Given the description of an element on the screen output the (x, y) to click on. 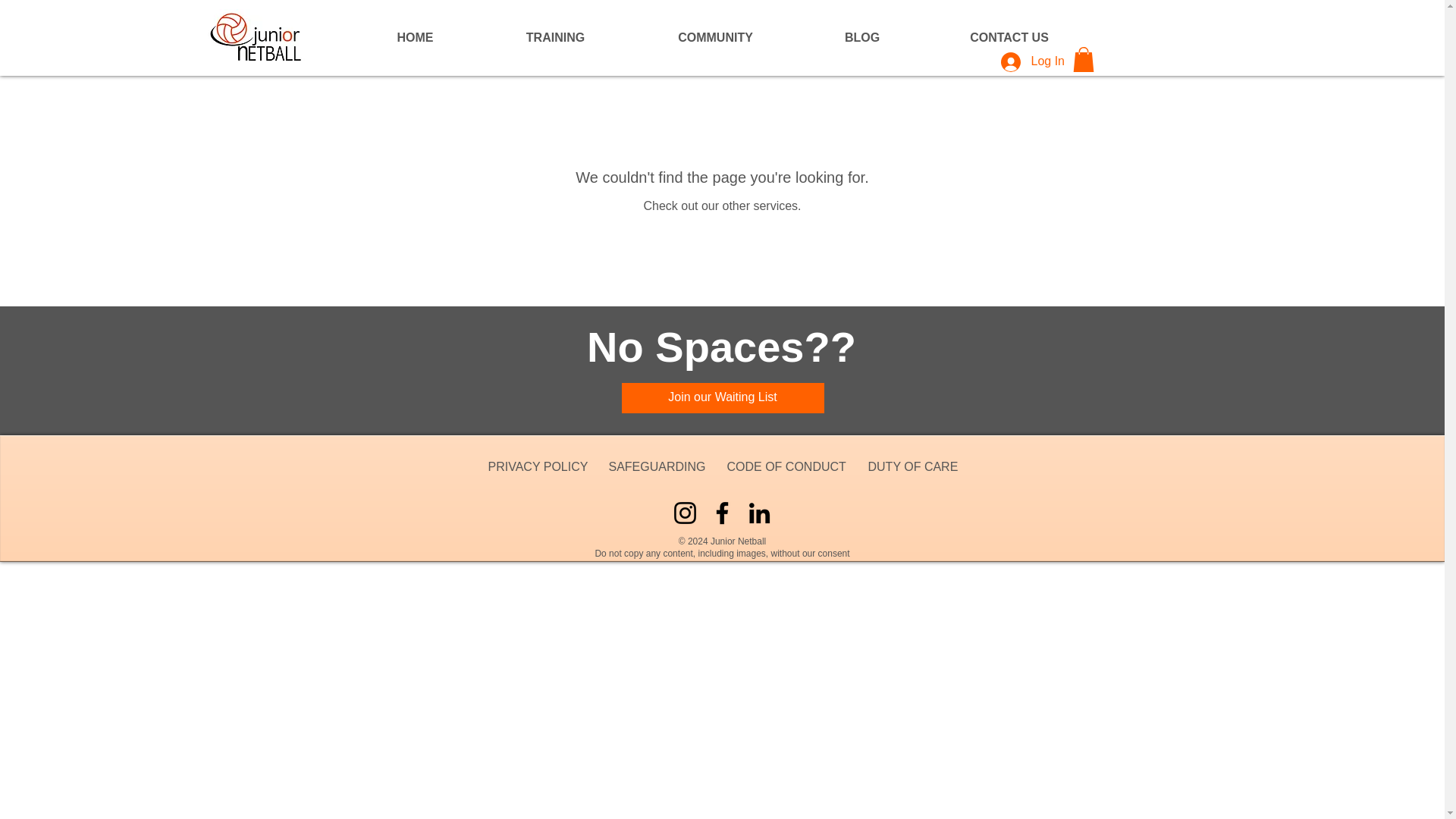
CONTACT US (1009, 37)
CODE OF CONDUCT (786, 466)
COMMUNITY (714, 37)
PRIVACY POLICY (536, 466)
DUTY OF CARE (912, 466)
SAFEGUARDING (656, 466)
BLOG (861, 37)
Log In (1028, 61)
Join our Waiting List (722, 398)
TRAINING (554, 37)
HOME (414, 37)
